Given the description of an element on the screen output the (x, y) to click on. 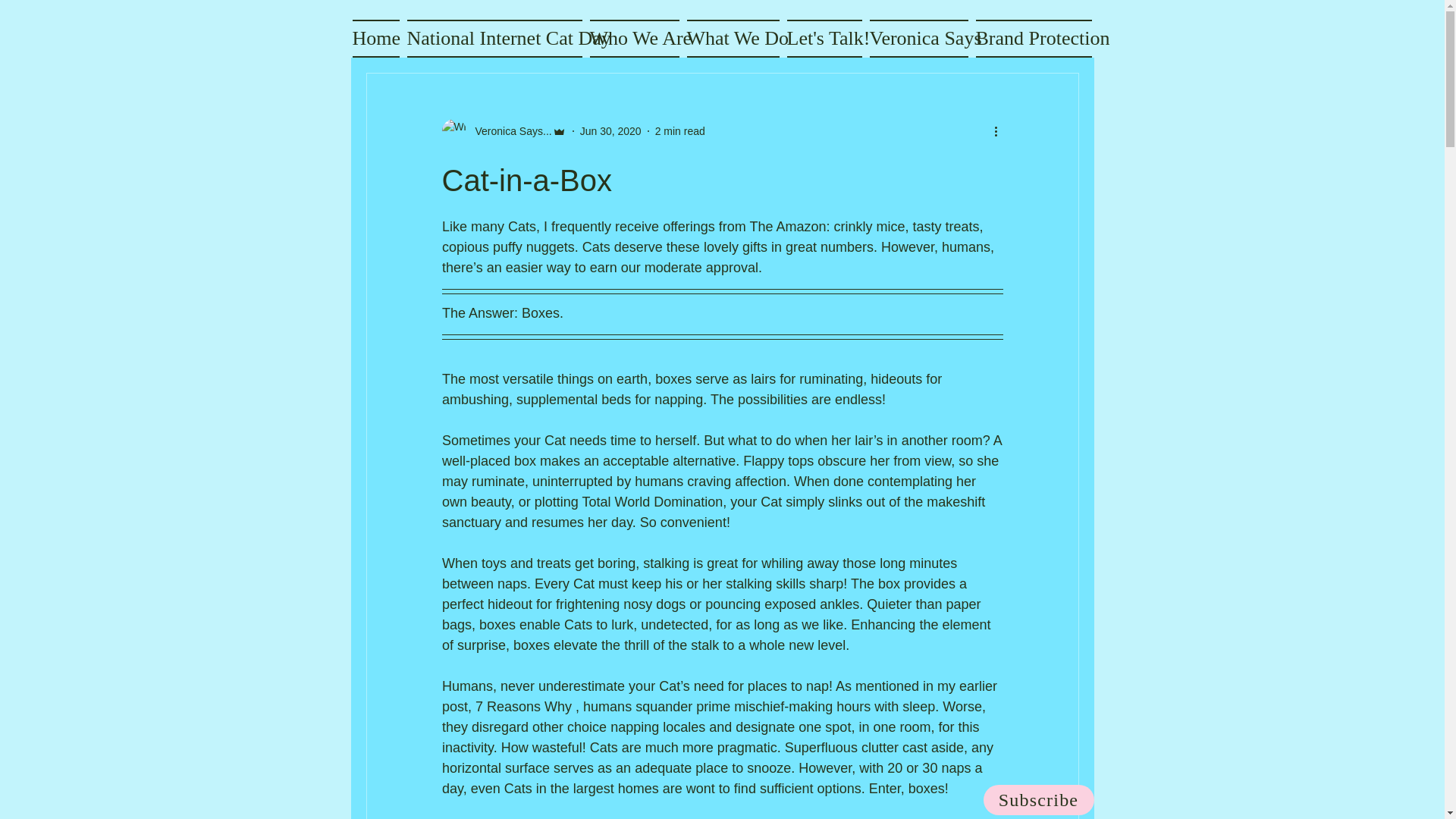
7 Reasons Why (524, 706)
Jun 30, 2020 (610, 130)
Veronica Says... (503, 130)
Veronica Says (919, 38)
Veronica Says... (508, 130)
Brand Protection (1032, 38)
2 min read (679, 130)
Let's Talk! (823, 38)
National Internet Cat Day (494, 38)
Home (377, 38)
